Given the description of an element on the screen output the (x, y) to click on. 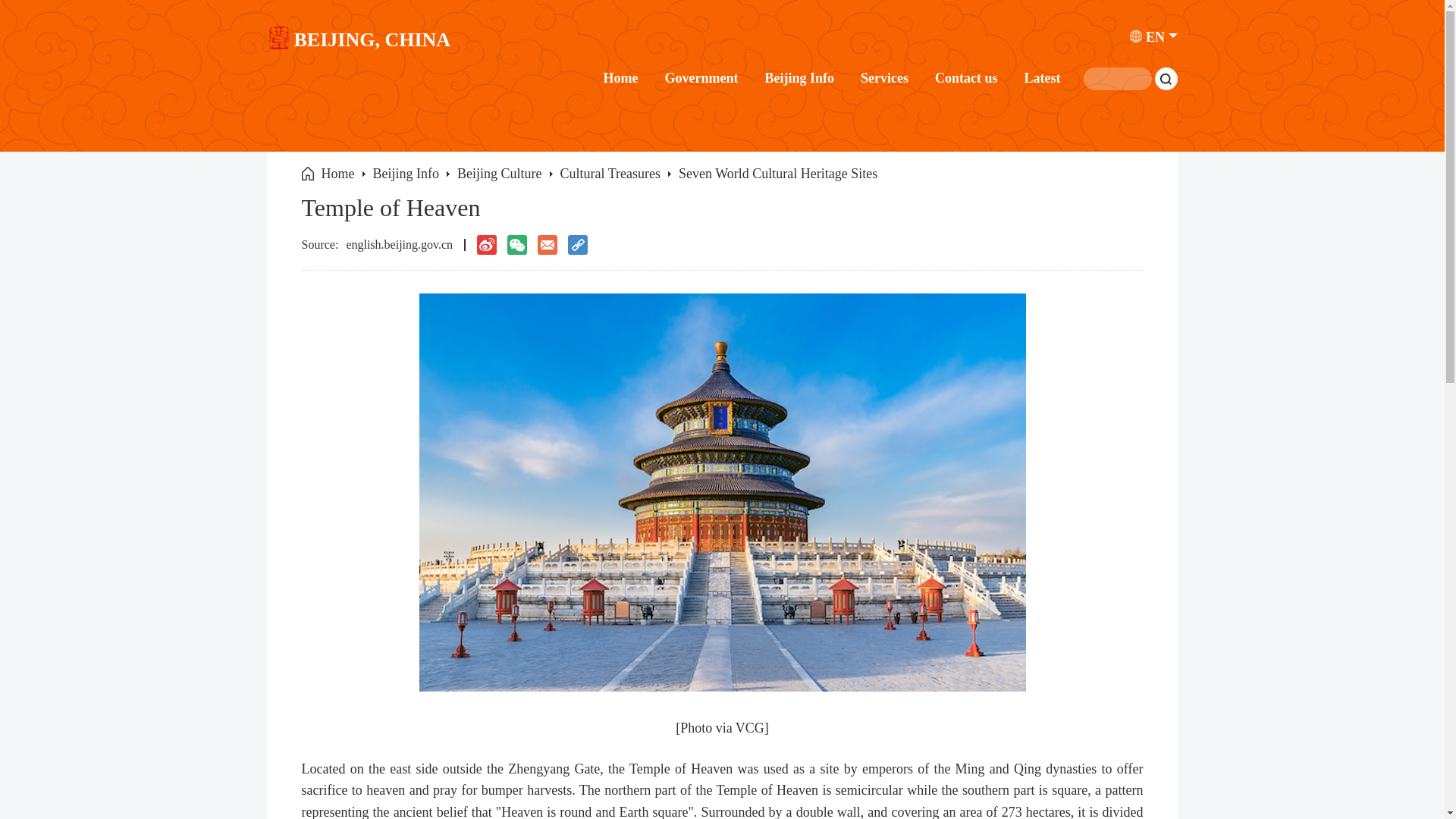
Cultural Treasures (610, 173)
Government (700, 77)
BEIJING, CHINA (357, 43)
Beijing Info (799, 77)
Beijing Info (405, 173)
Beijing Culture (499, 173)
Home (338, 173)
Services (884, 77)
Seven World Cultural Heritage Sites (777, 173)
Latest (1041, 77)
Home (621, 77)
Contact us (965, 77)
